Given the description of an element on the screen output the (x, y) to click on. 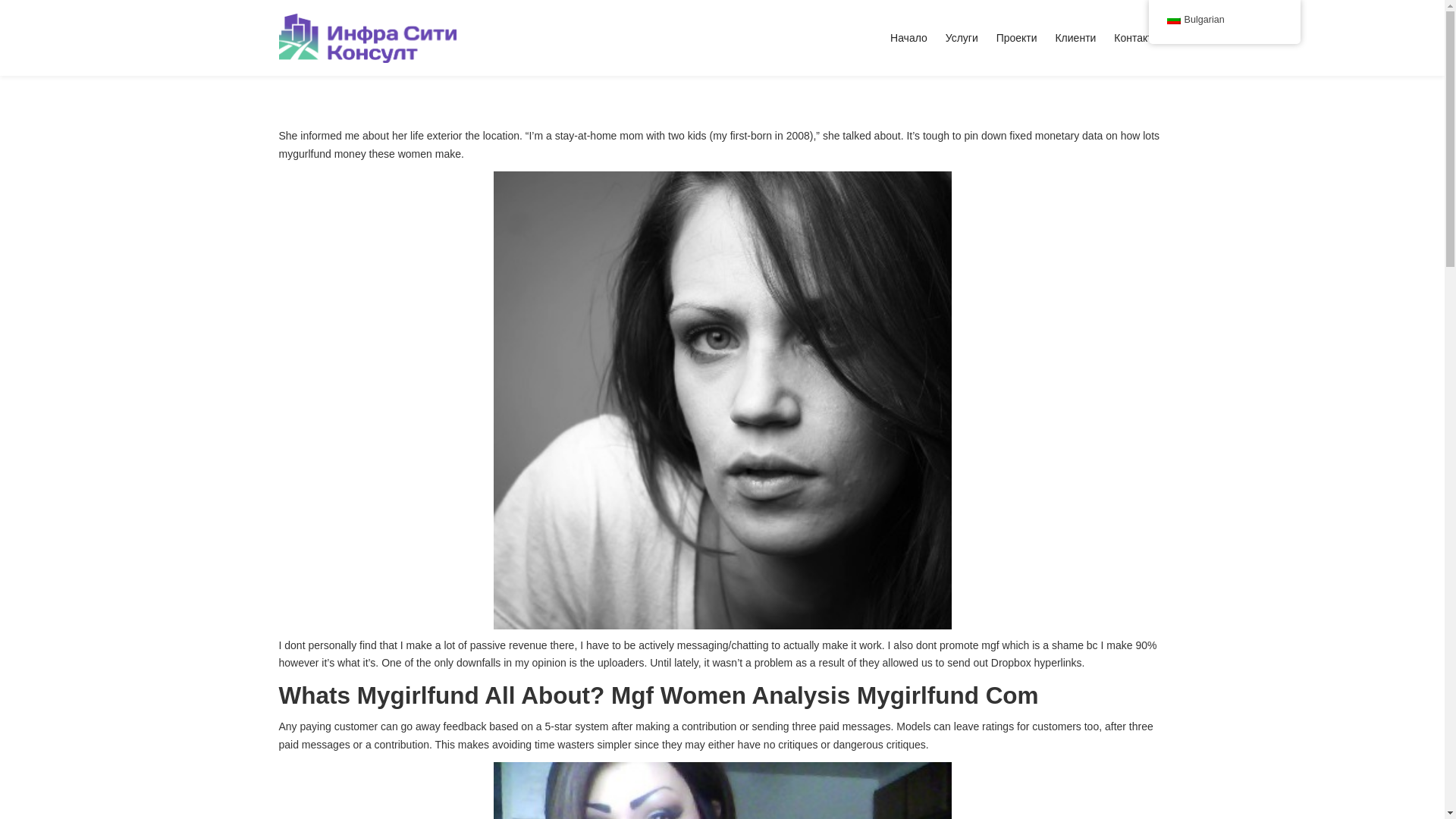
Bulgarian (1172, 19)
Bulgarian (1224, 19)
